Given the description of an element on the screen output the (x, y) to click on. 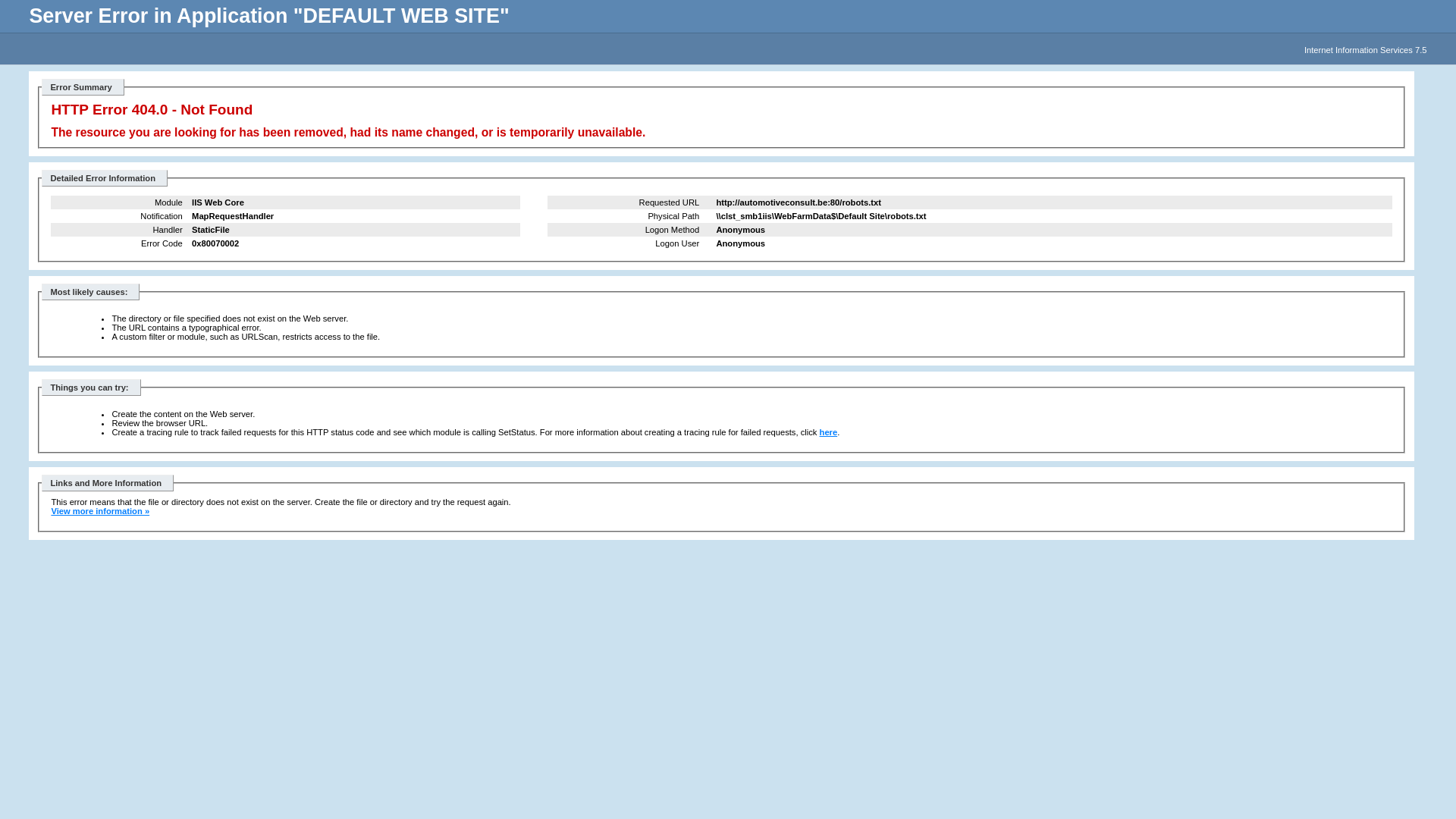
here Element type: text (828, 431)
